Given the description of an element on the screen output the (x, y) to click on. 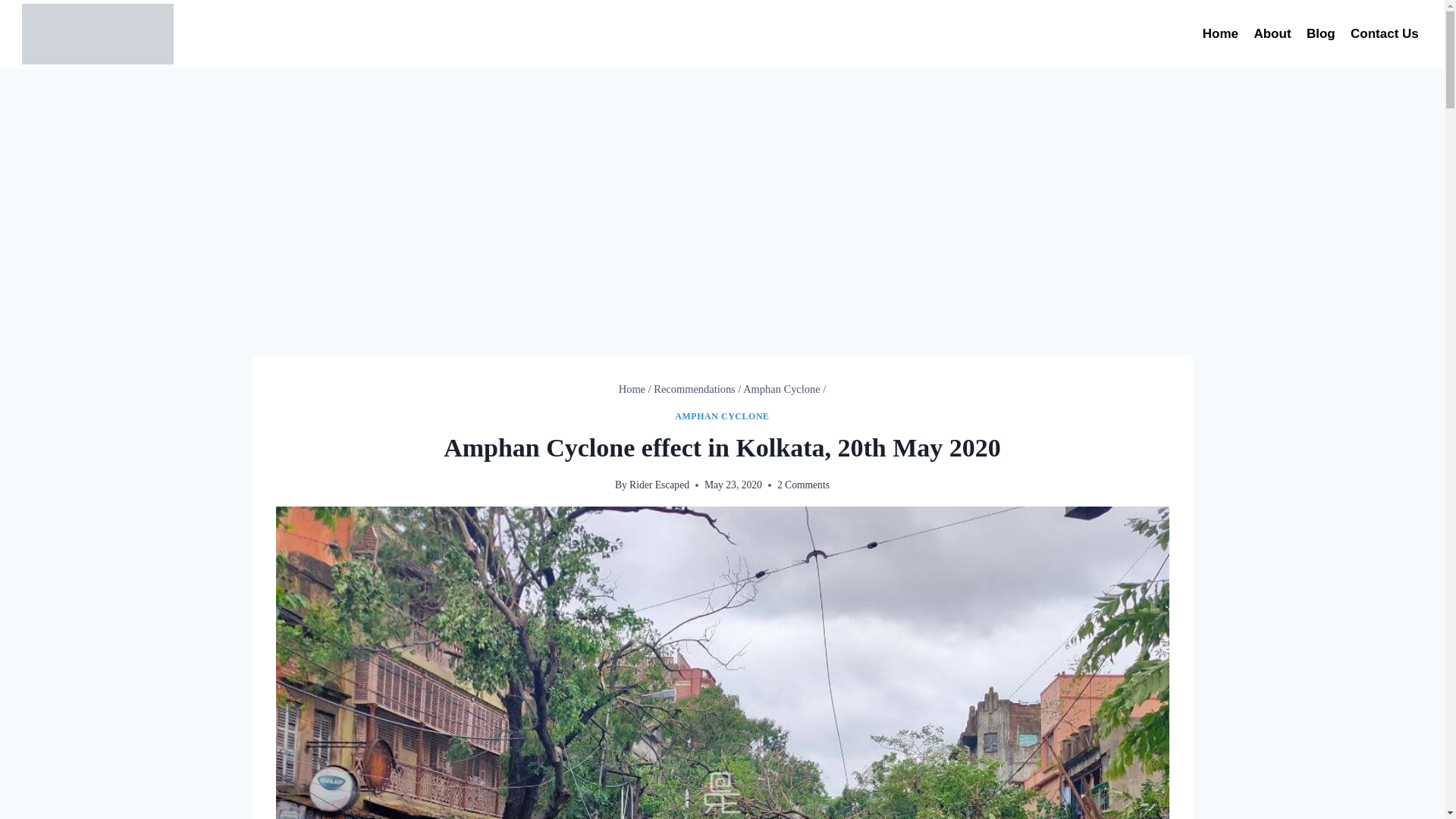
2 Comments (803, 484)
About (1272, 33)
Blog (1320, 33)
Home (631, 388)
Recommendations (694, 388)
Amphan Cyclone (780, 388)
Contact Us (1384, 33)
Home (1220, 33)
AMPHAN CYCLONE (721, 416)
Rider Escaped (658, 484)
2 Comments (803, 484)
